Given the description of an element on the screen output the (x, y) to click on. 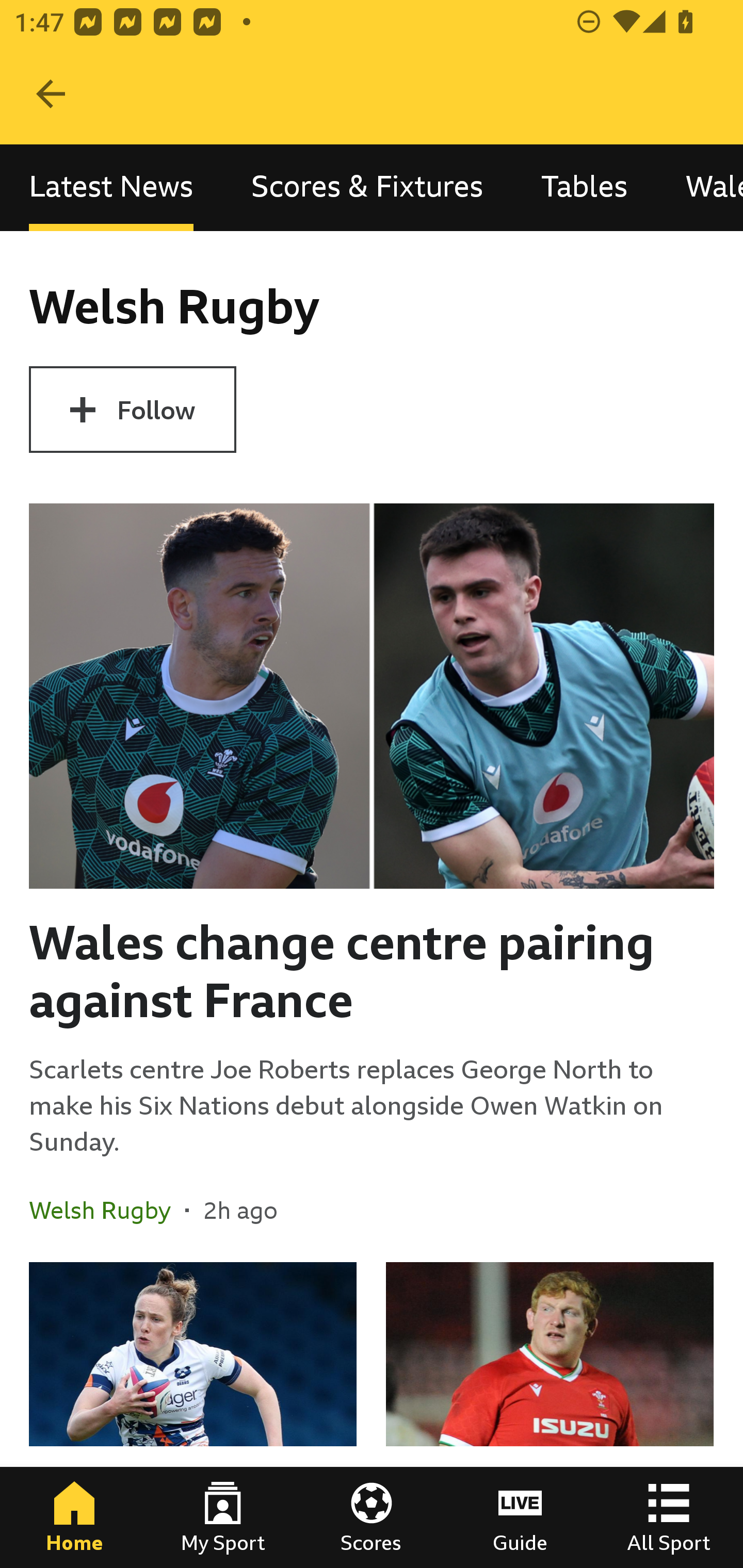
Navigate up (50, 93)
Latest News, selected Latest News (111, 187)
Scores & Fixtures (367, 187)
Tables (584, 187)
Wales (699, 187)
Follow Welsh Rugby Follow (132, 409)
My Sport (222, 1517)
Scores (371, 1517)
Guide (519, 1517)
All Sport (668, 1517)
